Given the description of an element on the screen output the (x, y) to click on. 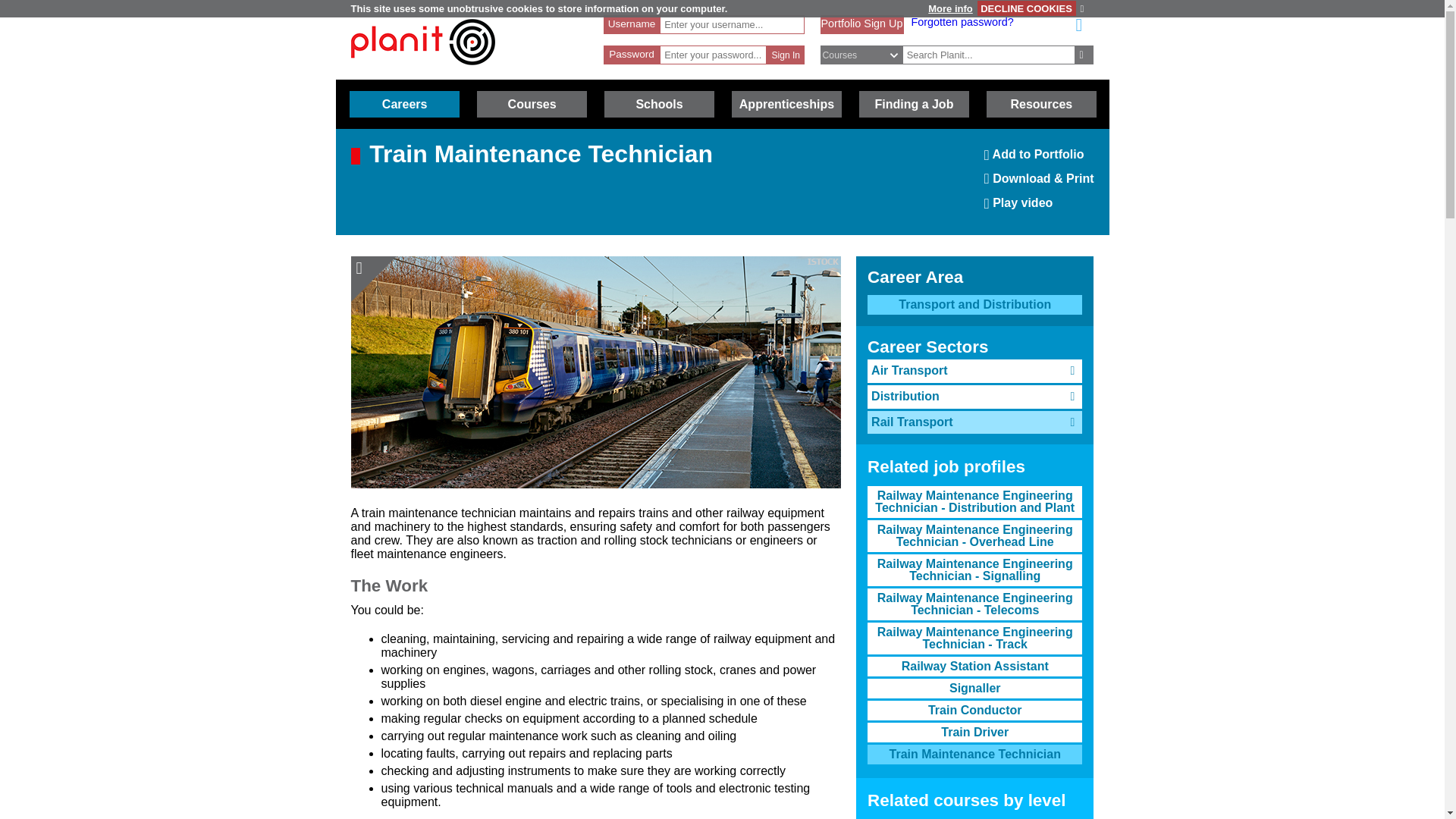
Portfolio Sign Up (861, 23)
Courses (531, 103)
Forgotten password? (962, 21)
Planit (422, 41)
Sign In (786, 54)
Resources (1039, 159)
DECLINE COOKIES (1041, 103)
Select search type (1025, 7)
Enter text to search Planit (869, 54)
